Given the description of an element on the screen output the (x, y) to click on. 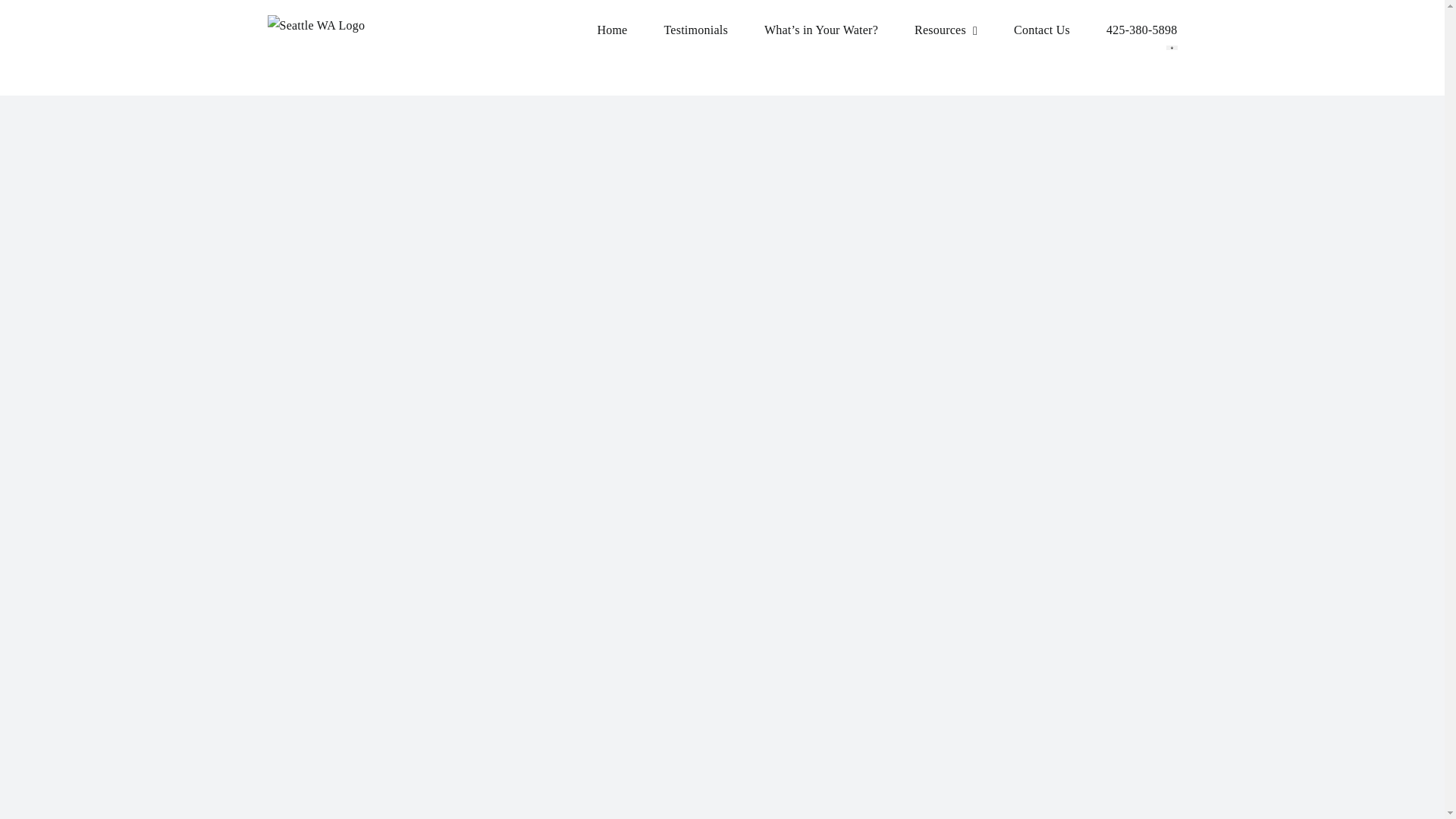
Contact Us (1041, 30)
Testimonials (694, 30)
425-380-5898 (1141, 30)
Resources (945, 30)
